Given the description of an element on the screen output the (x, y) to click on. 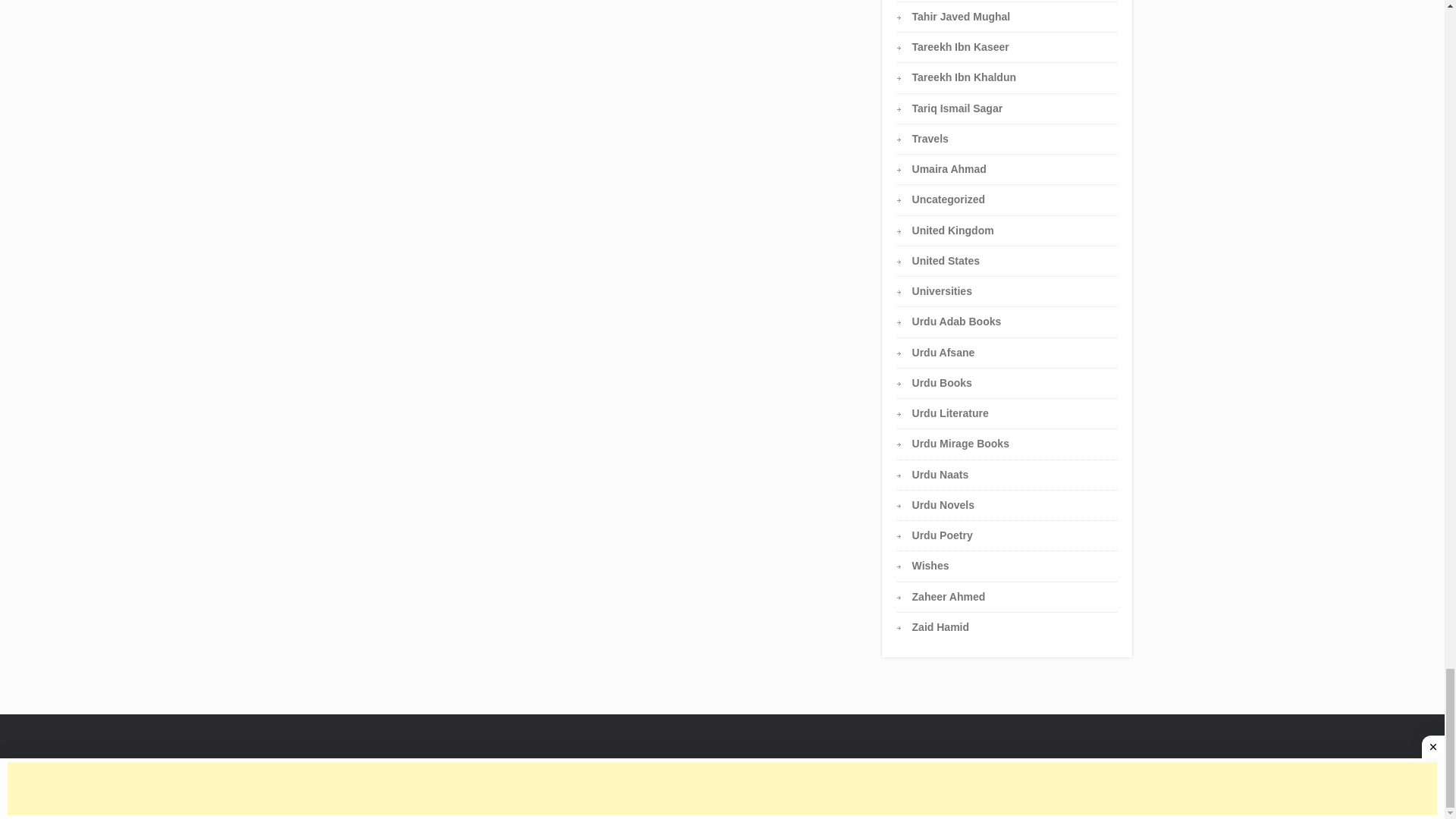
DMCA.com Protection Status (781, 788)
